Given the description of an element on the screen output the (x, y) to click on. 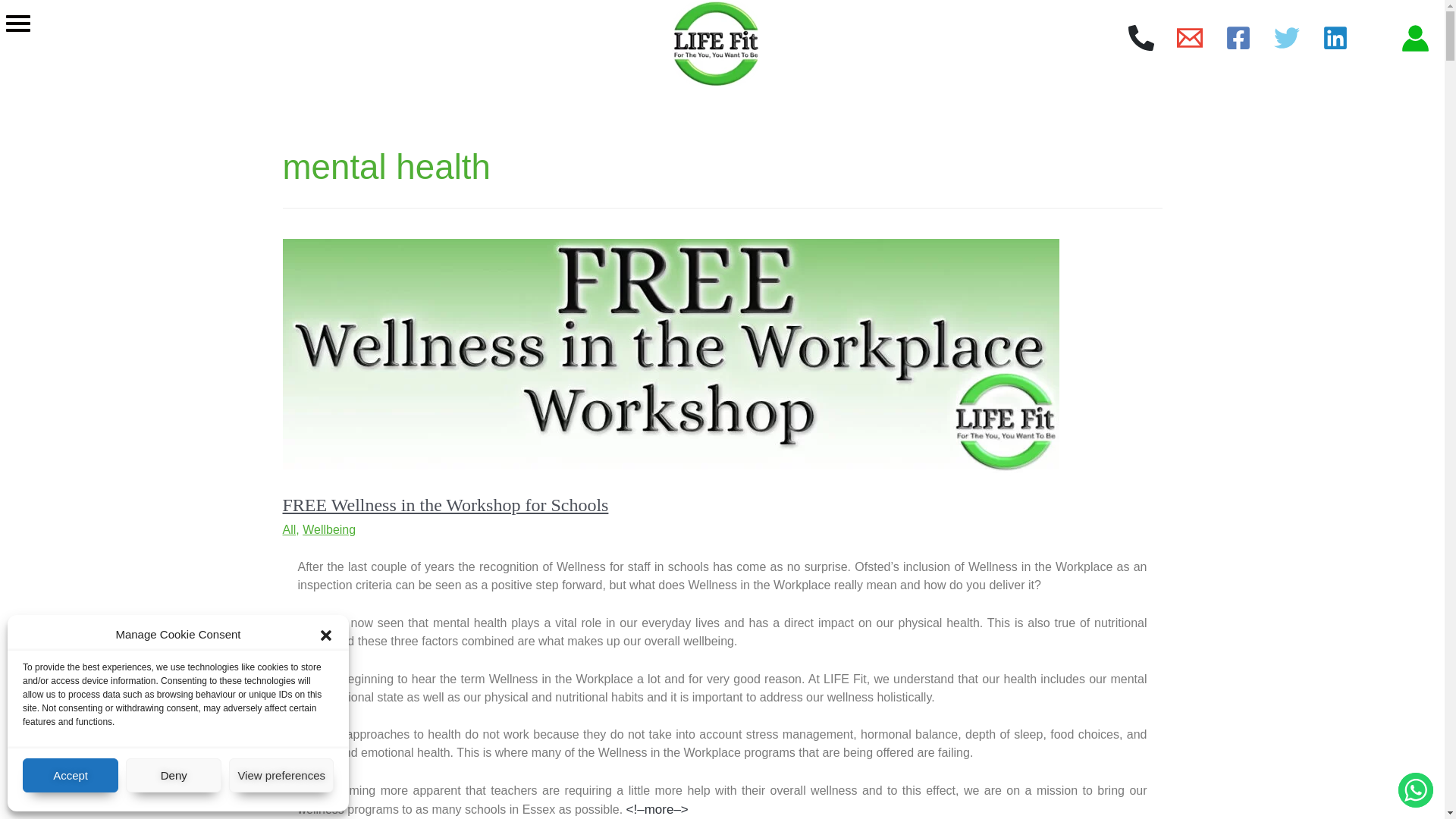
Accept (70, 775)
View preferences (280, 775)
Deny (173, 775)
